Given the description of an element on the screen output the (x, y) to click on. 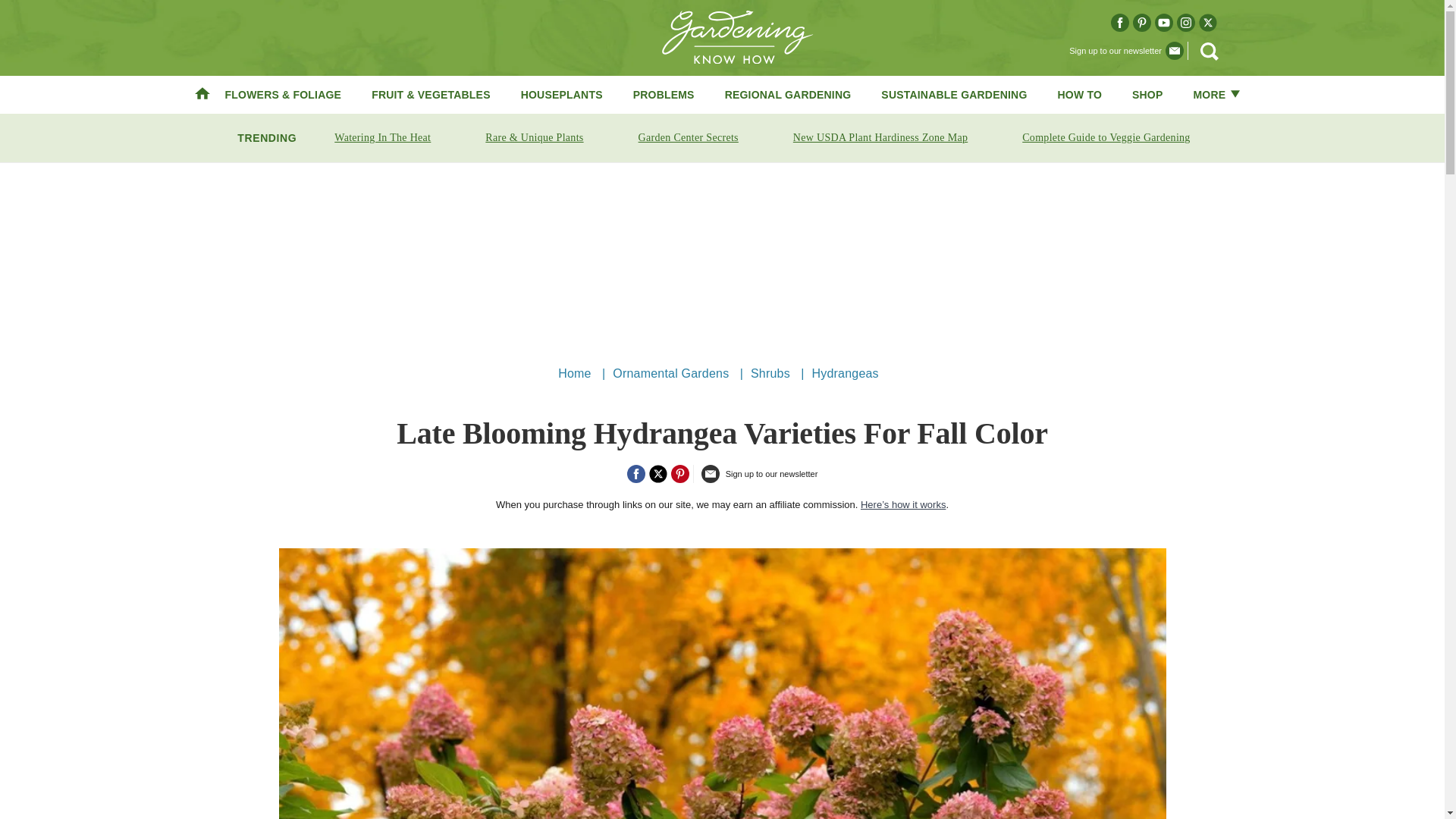
HOUSEPLANTS (561, 94)
HOW TO (1080, 94)
REGIONAL GARDENING (788, 94)
PROBLEMS (663, 94)
SUSTAINABLE GARDENING (953, 94)
